Given the description of an element on the screen output the (x, y) to click on. 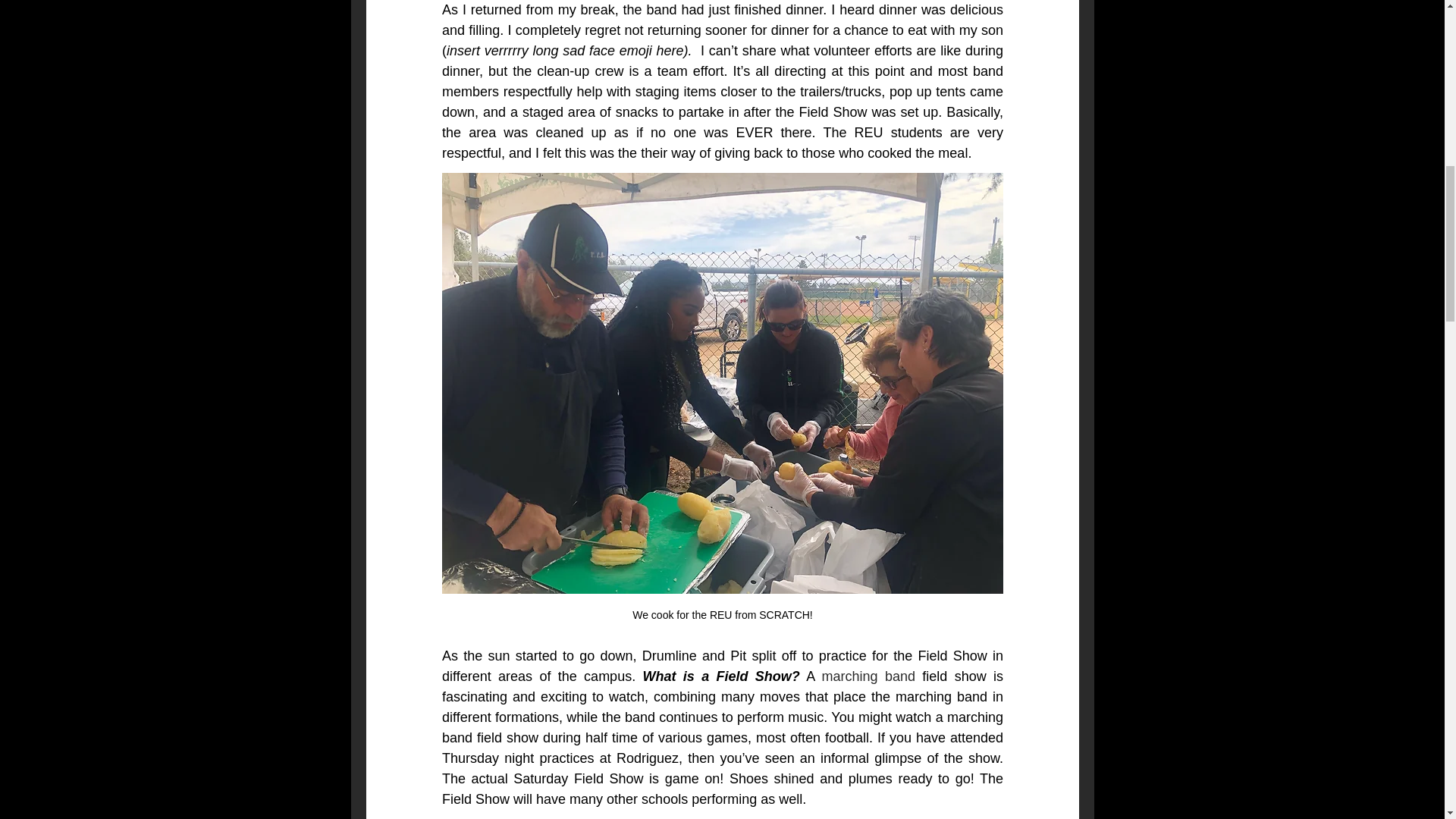
marching band (867, 676)
